Given the description of an element on the screen output the (x, y) to click on. 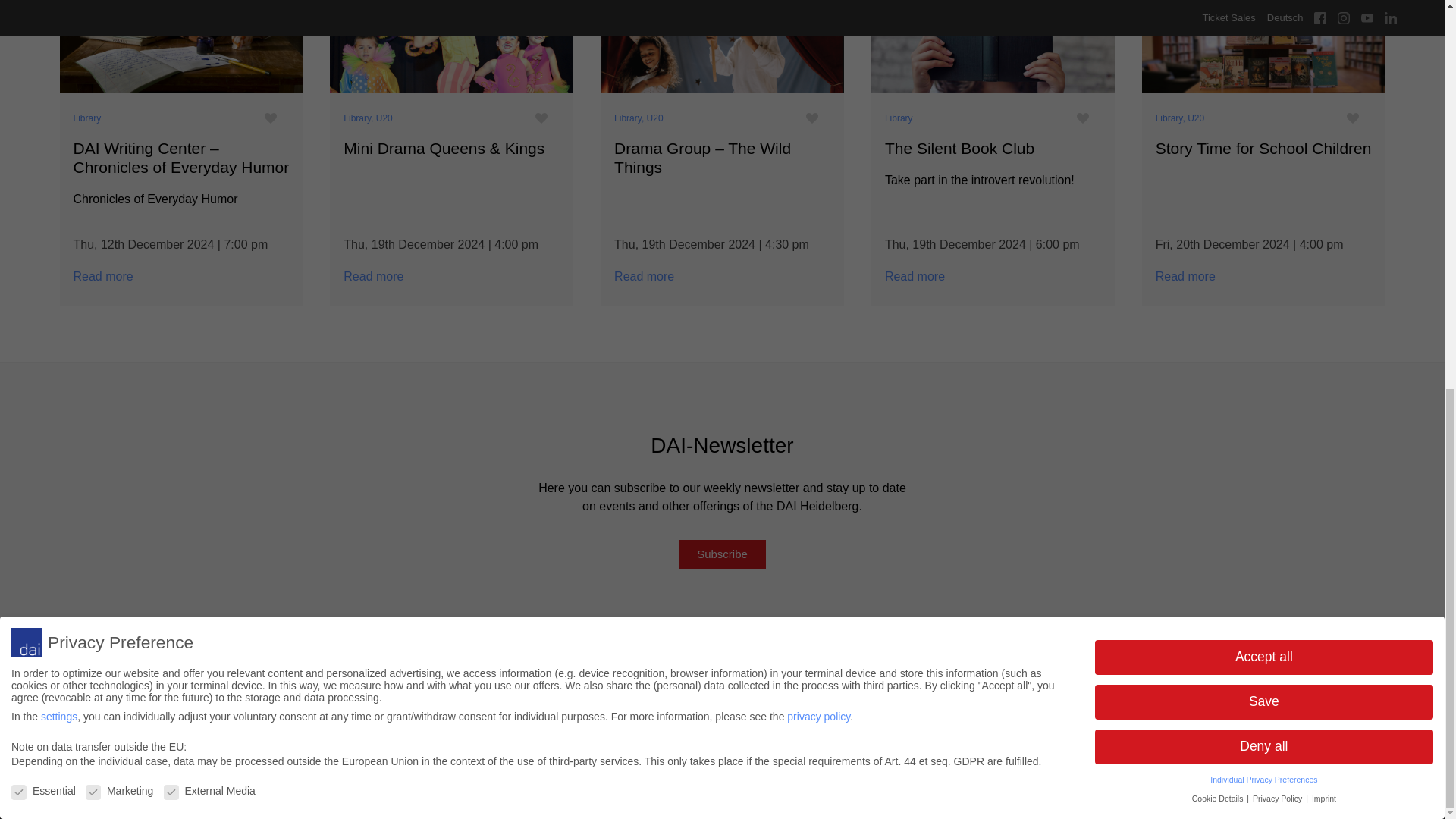
Read more (180, 48)
Read more (451, 48)
Read more (721, 48)
Read more (1263, 48)
Read more (992, 48)
